Given the description of an element on the screen output the (x, y) to click on. 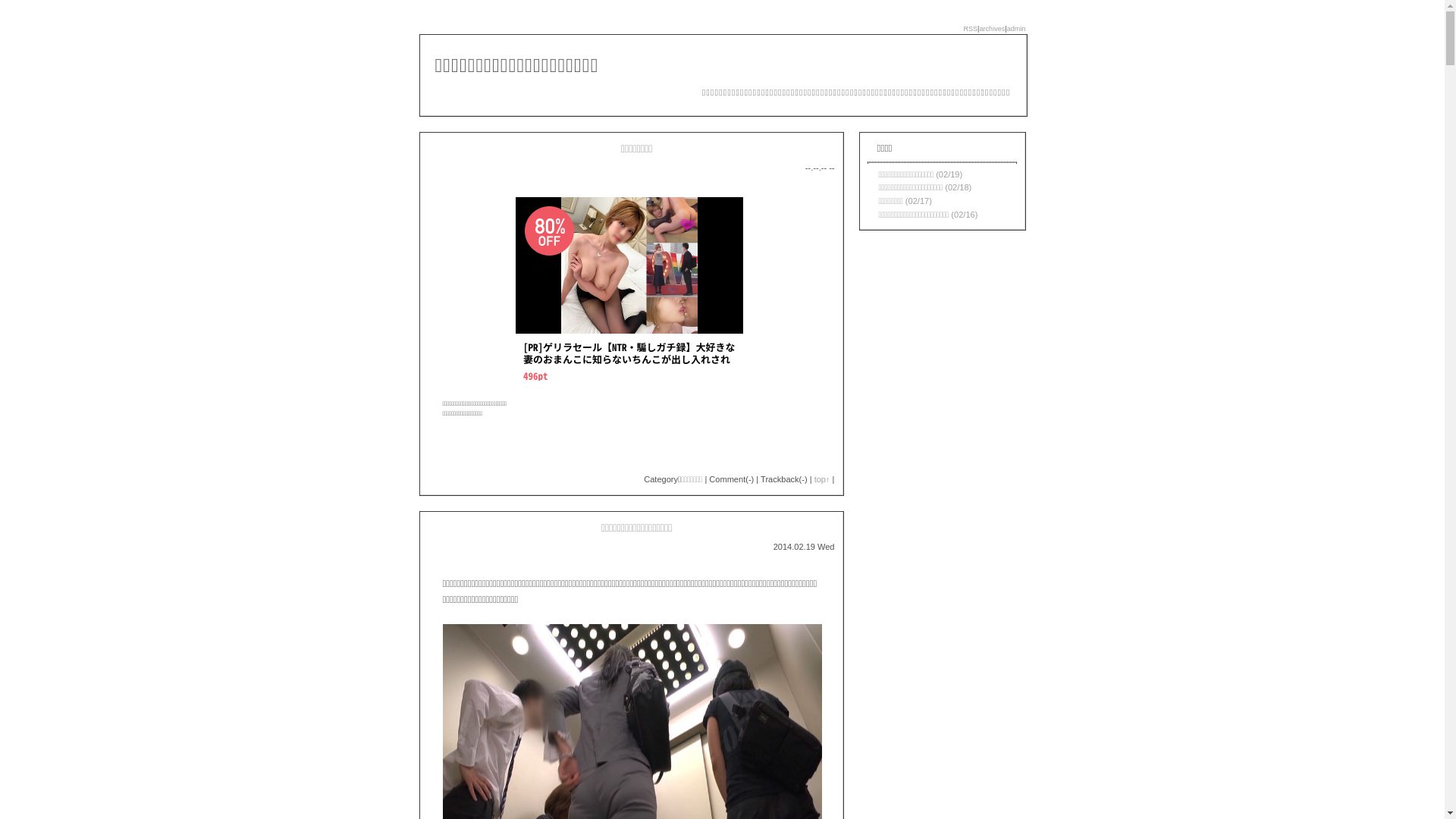
RSS Element type: text (970, 28)
archives Element type: text (991, 28)
admin Element type: text (1016, 28)
